Given the description of an element on the screen output the (x, y) to click on. 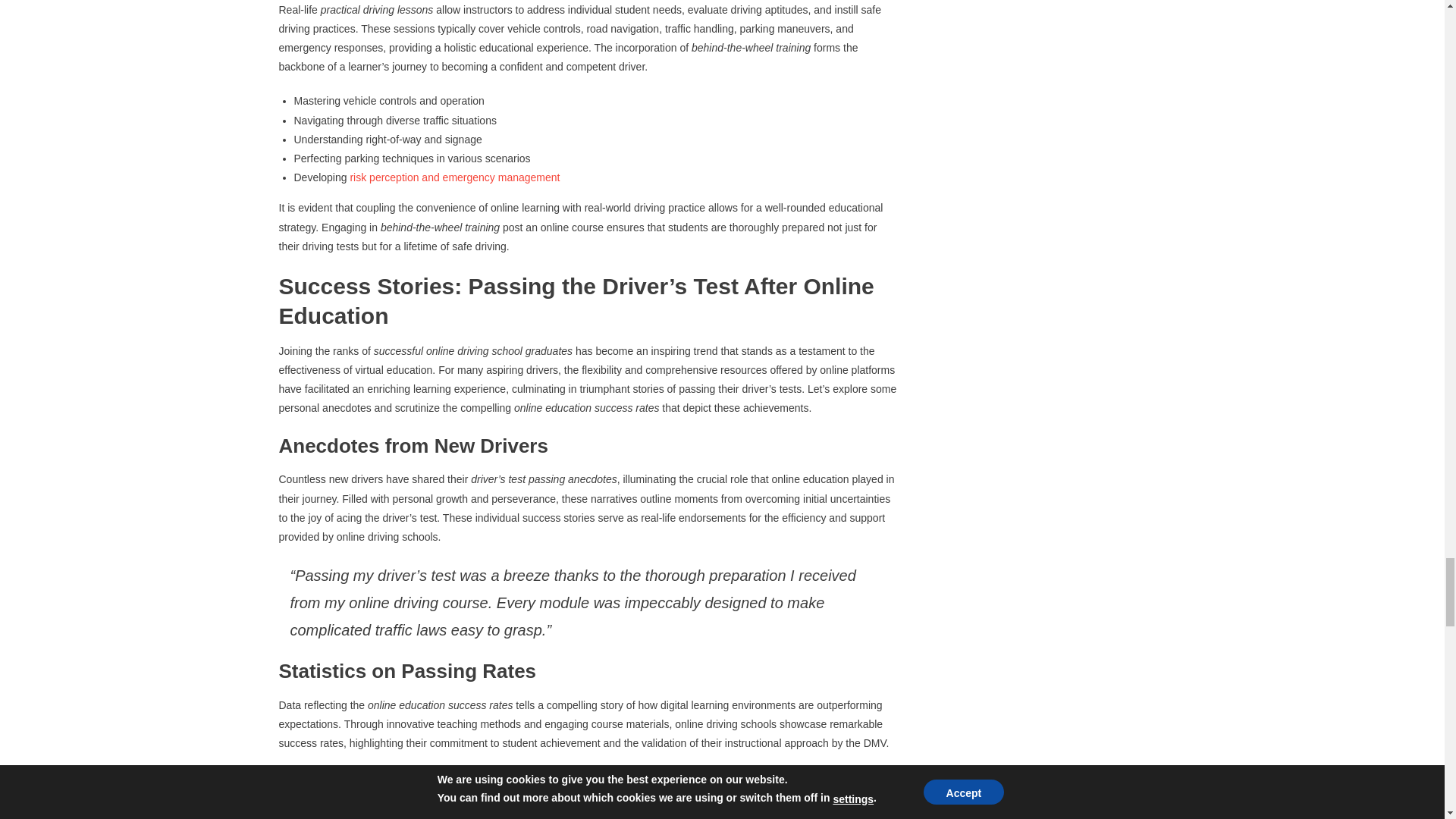
risk perception and emergency management (454, 177)
